Given the description of an element on the screen output the (x, y) to click on. 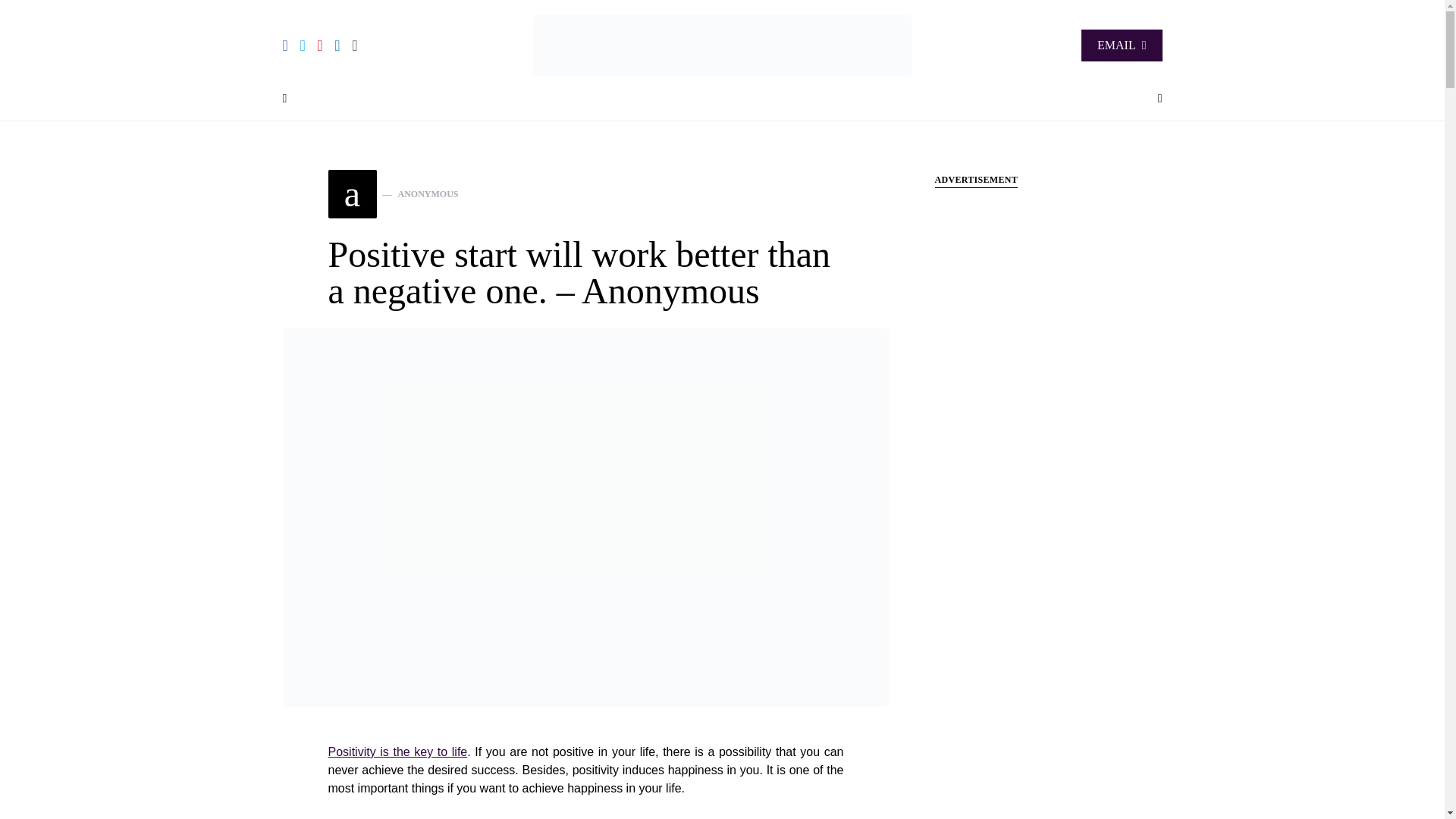
Positivity is the key to life (397, 751)
EMAIL (1121, 45)
Best Positive Quotes In The World (392, 193)
